Given the description of an element on the screen output the (x, y) to click on. 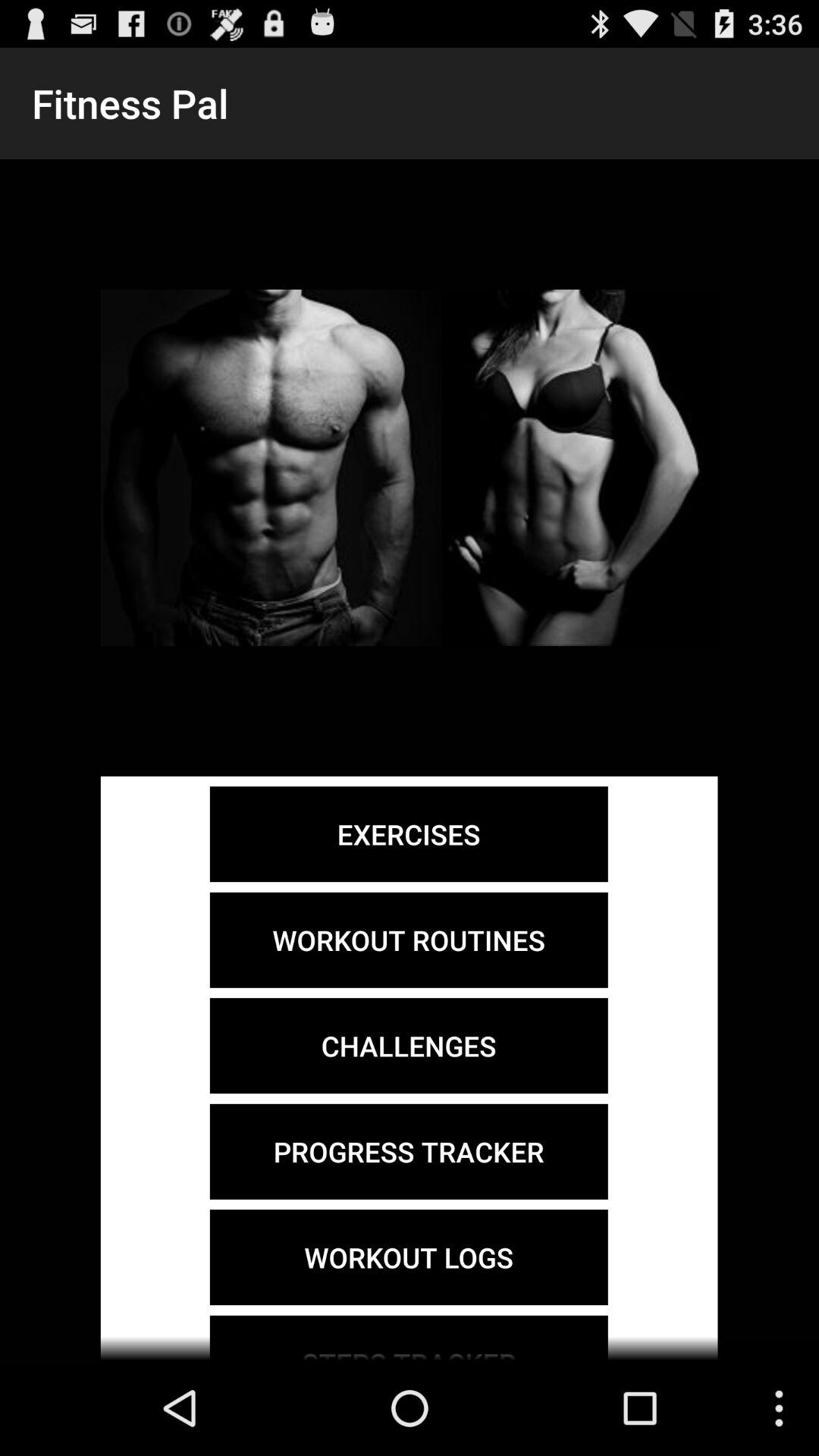
tap the item above the progress tracker icon (408, 1045)
